Given the description of an element on the screen output the (x, y) to click on. 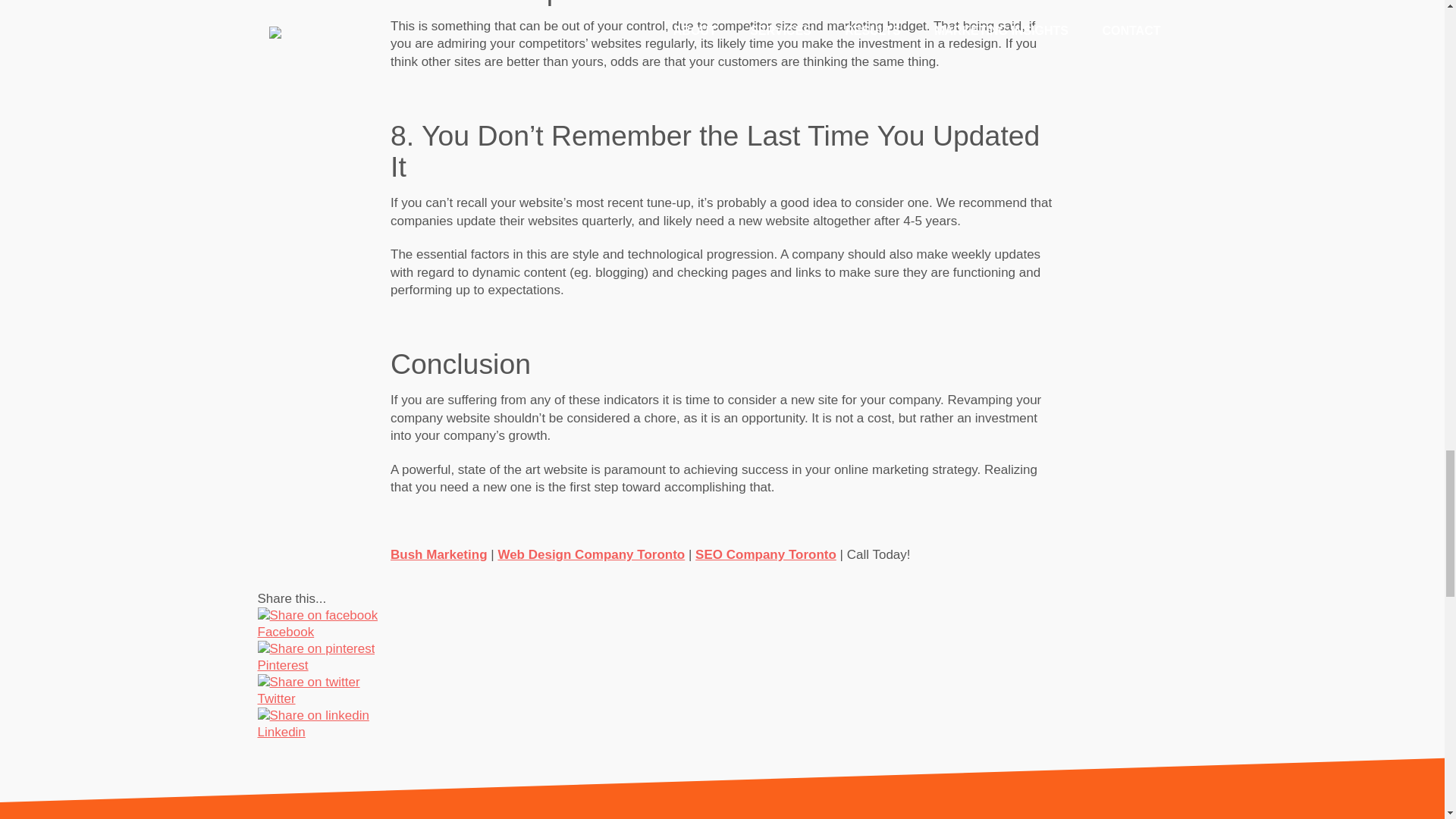
pinterest (316, 648)
facebook (317, 615)
Linkedin (629, 732)
twitter (308, 682)
Twitter (629, 699)
Pinterest (629, 665)
linkedin (313, 715)
Bush Marketing (438, 554)
Facebook (629, 632)
